Given the description of an element on the screen output the (x, y) to click on. 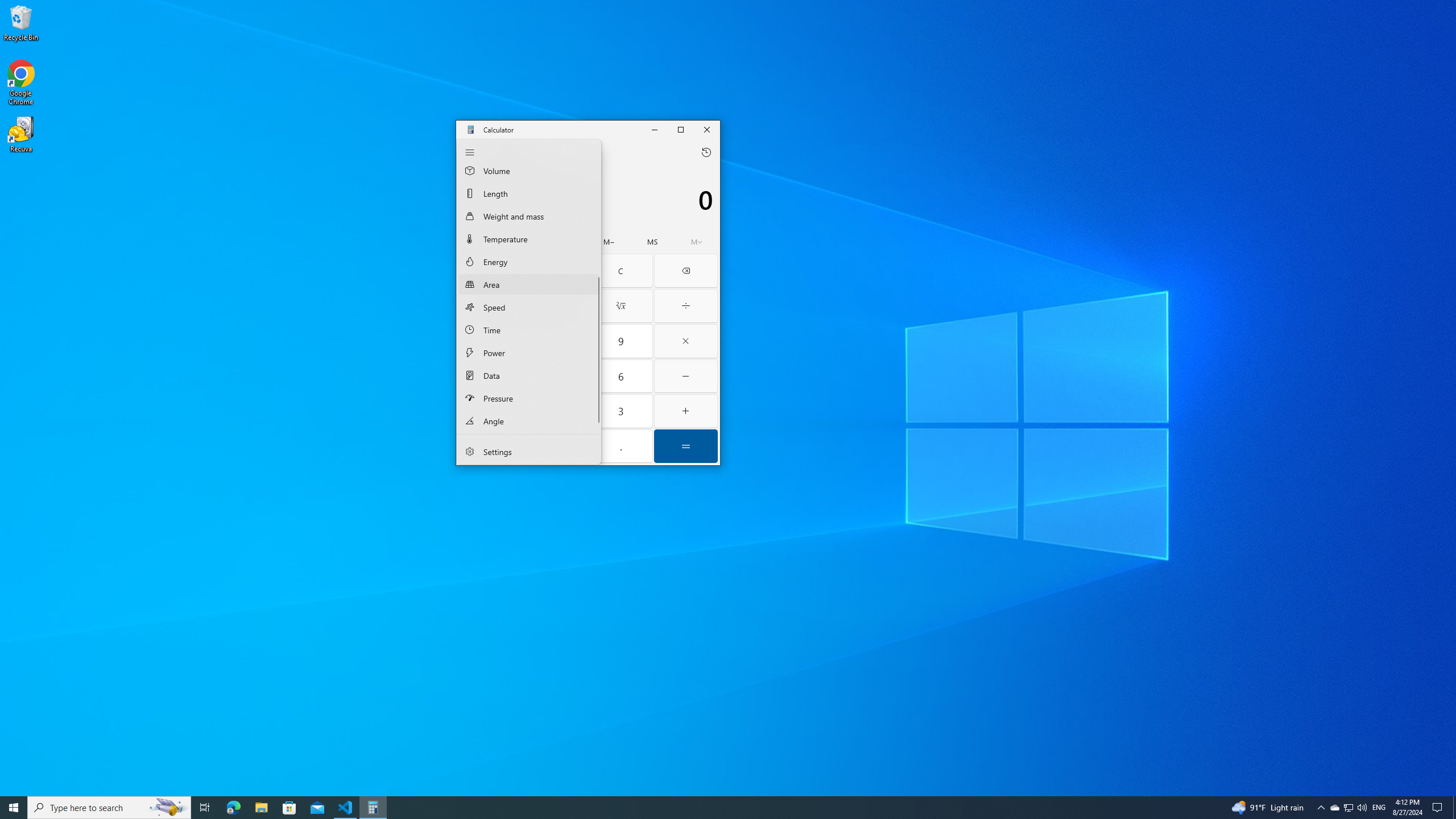
Memory subtract (609, 241)
Clear all memory (479, 241)
Plus (1347, 807)
Percent (685, 410)
Close (490, 270)
Four (587, 301)
Settings (490, 376)
Square root (528, 451)
Vertical Large Decrease (620, 305)
Memory add (597, 223)
Energy Converter (565, 241)
Two (528, 261)
Seven (556, 410)
Clear entry (490, 341)
